Given the description of an element on the screen output the (x, y) to click on. 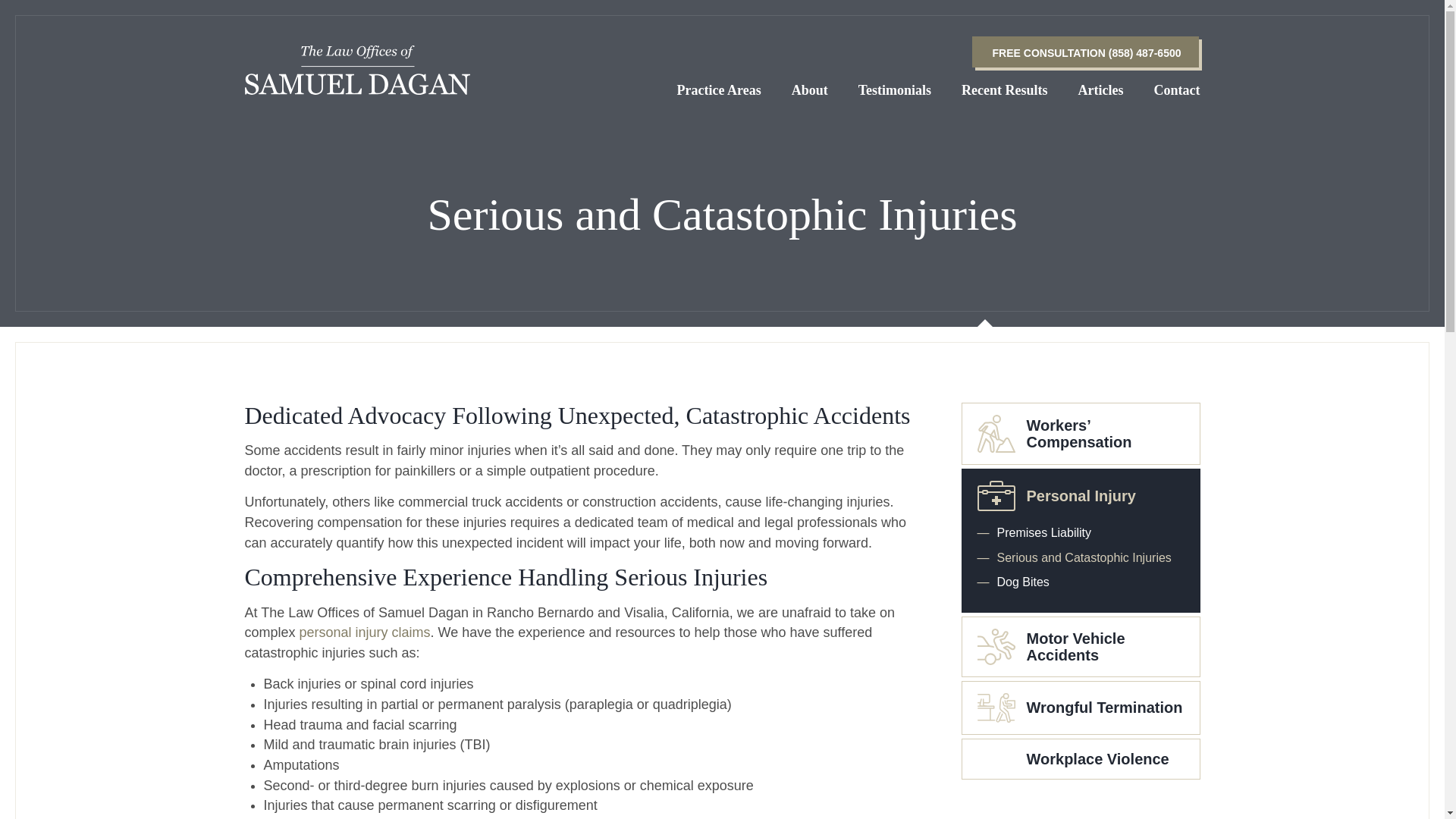
Recent Results (1003, 89)
Practice Areas (719, 89)
Contact (1176, 89)
Serious and Catastophic Injuries (1079, 558)
Wrongful Termination (1079, 707)
About (810, 89)
Motor Vehicle Accidents (1079, 646)
personal injury claims (364, 631)
Premises Liability (1079, 532)
Personal Injury (1079, 495)
Dog Bites (1079, 581)
Testimonials (895, 89)
Workplace Violence (1079, 759)
Articles (1101, 89)
